Given the description of an element on the screen output the (x, y) to click on. 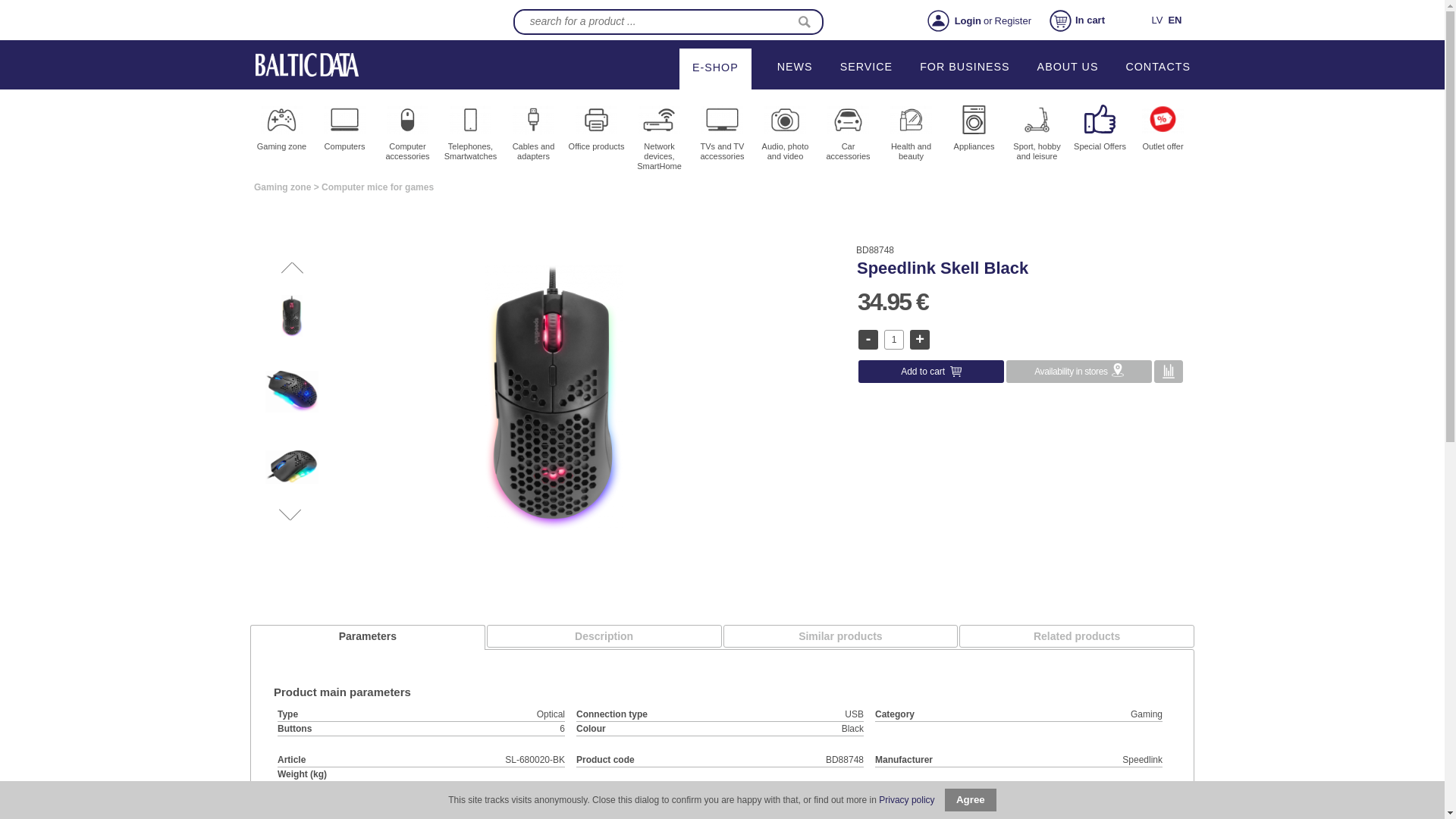
Gaming zone (280, 154)
In cart (1088, 20)
ABOUT US (1067, 66)
NEWS (794, 66)
on (1168, 371)
LV (1156, 20)
FOR BUSINESS (964, 66)
Register (1012, 20)
E-SHOP (714, 66)
Compare (1168, 371)
SERVICE (866, 66)
CONTACTS (1158, 66)
1 (893, 339)
EN (1173, 20)
Computers (344, 154)
